Given the description of an element on the screen output the (x, y) to click on. 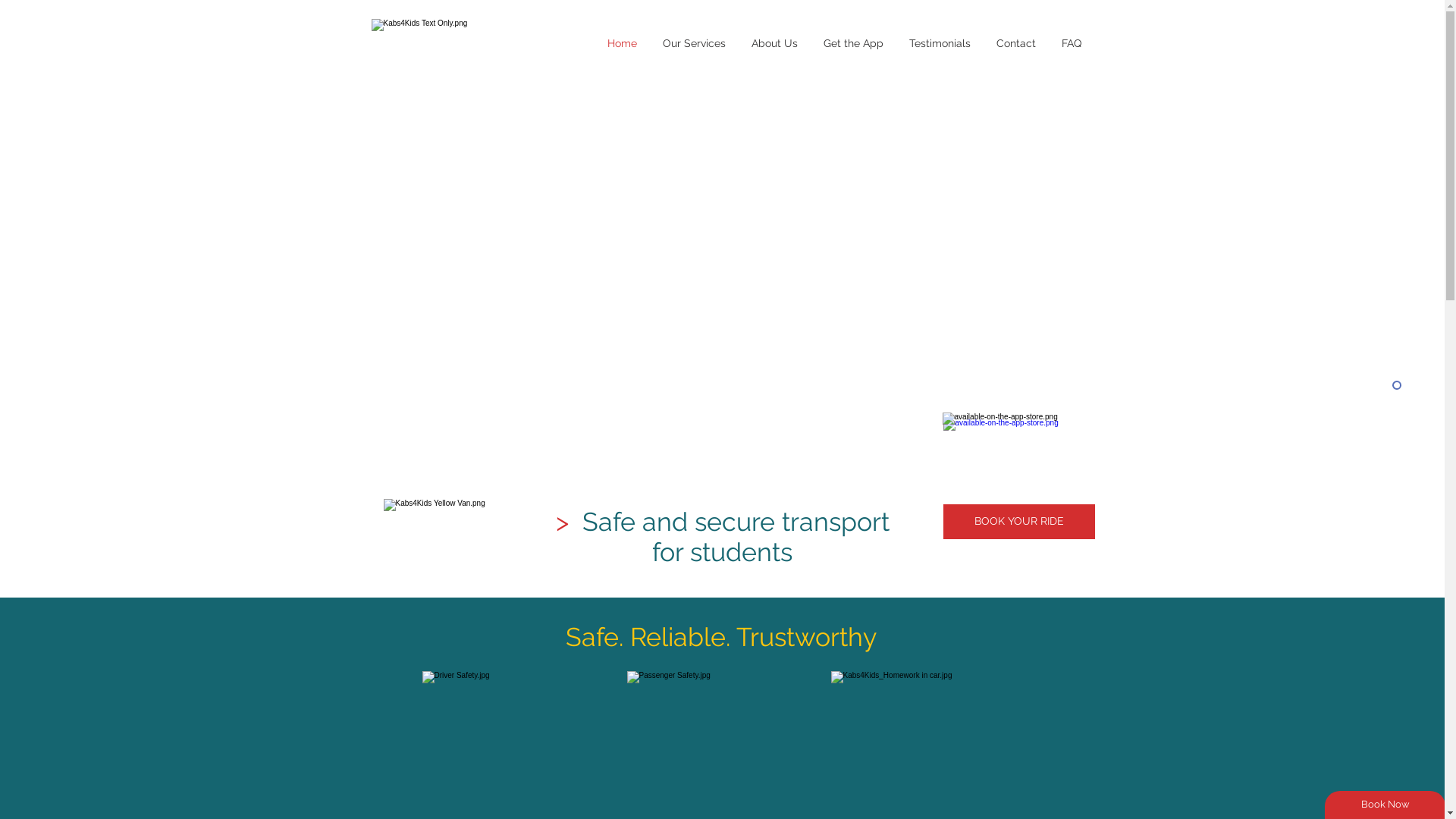
BOOK YOUR RIDE Element type: text (1019, 521)
About Us Element type: text (774, 43)
Get the App Element type: text (852, 43)
FAQ Element type: text (1070, 43)
Our Services Element type: text (693, 43)
Home Element type: text (621, 43)
Contact Element type: text (1015, 43)
Testimonials Element type: text (939, 43)
